Given the description of an element on the screen output the (x, y) to click on. 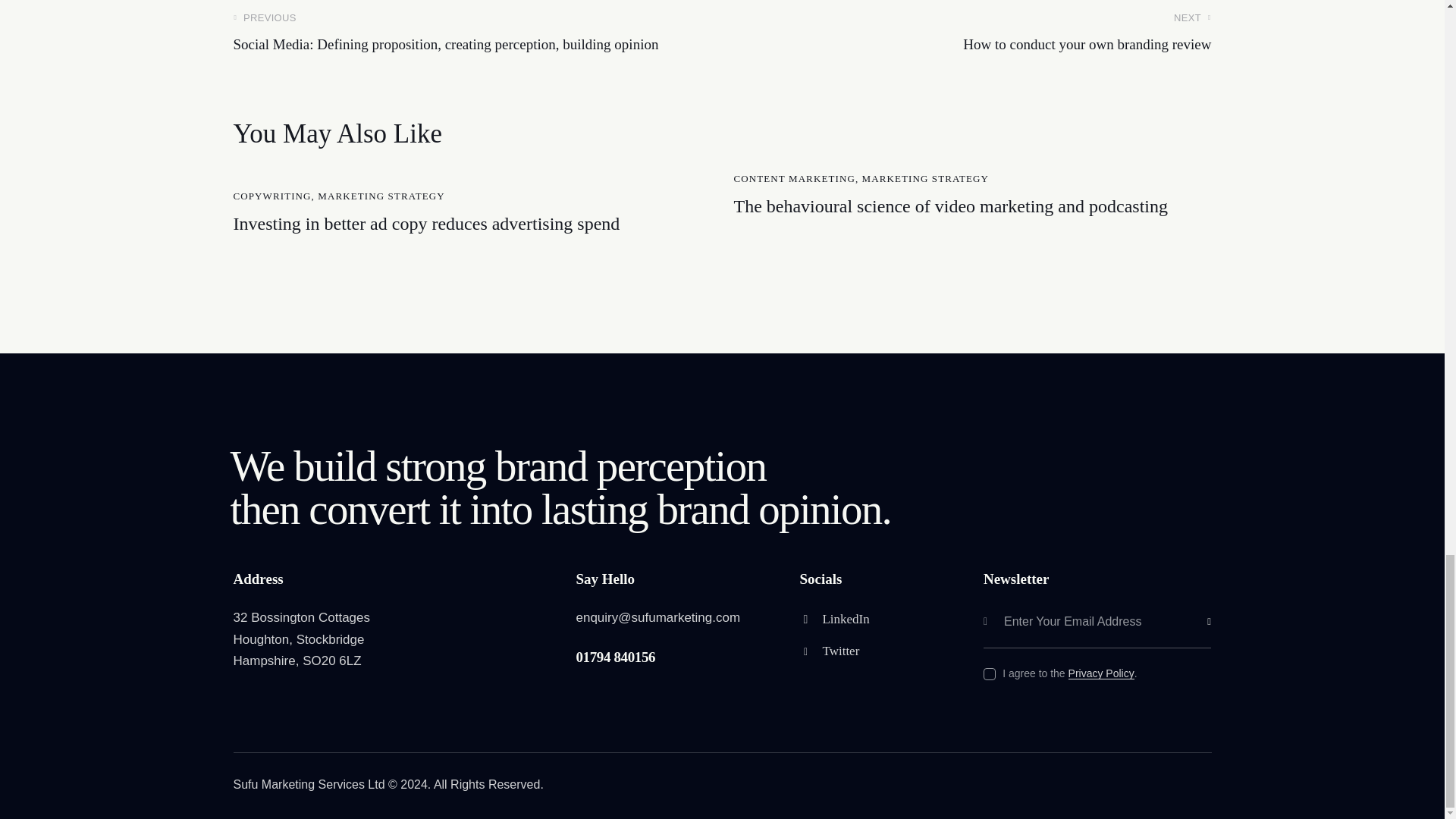
COPYWRITING (271, 195)
1 (972, 33)
MARKETING STRATEGY (1216, 600)
